Given the description of an element on the screen output the (x, y) to click on. 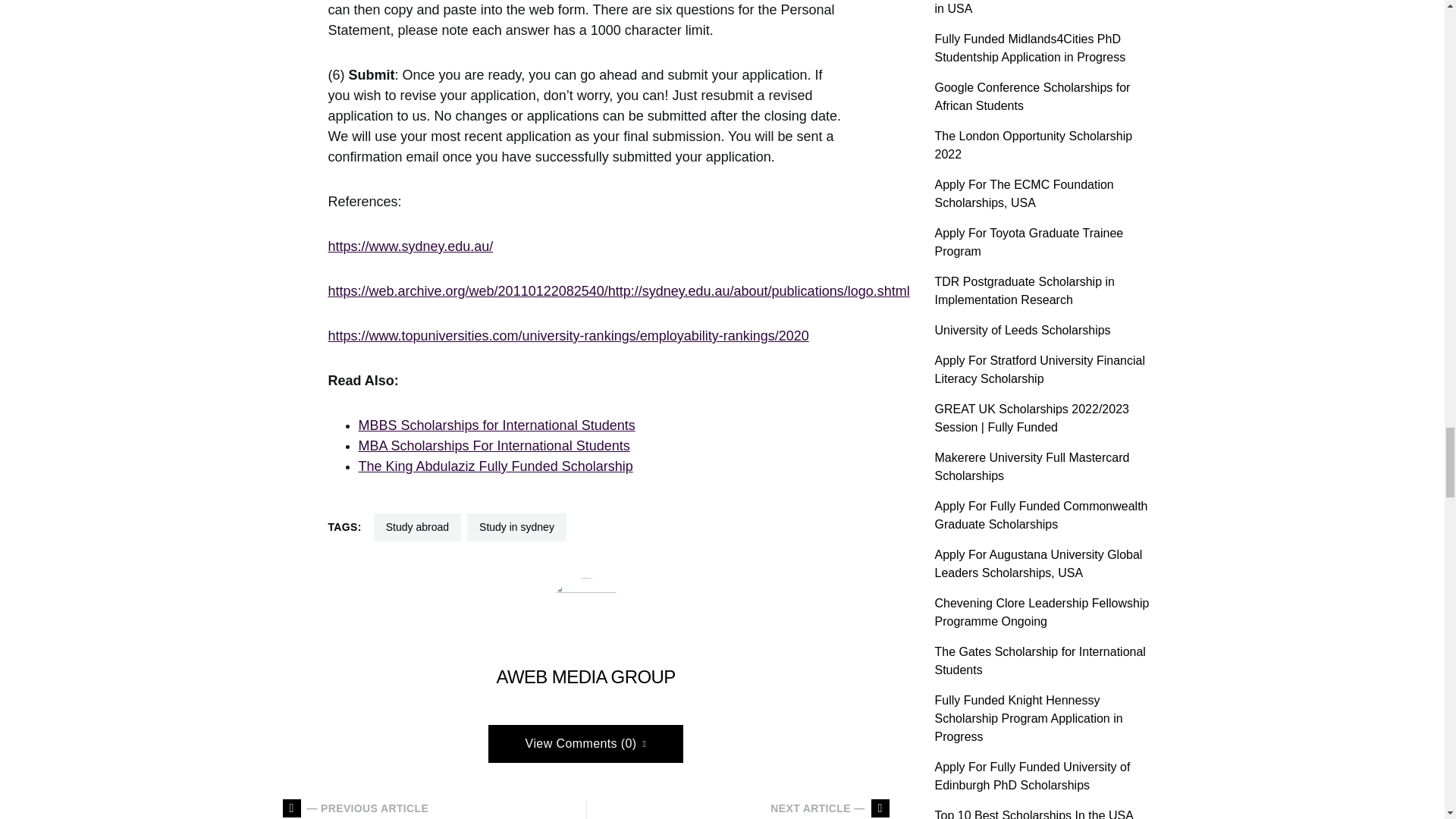
MBBS Scholarships for International Students (496, 425)
Study abroad (417, 527)
AWEB MEDIA GROUP (585, 676)
The King Abdulaziz Fully Funded Scholarship (494, 466)
study in sydney (516, 527)
MBA Scholarships For International Students (493, 445)
